Given the description of an element on the screen output the (x, y) to click on. 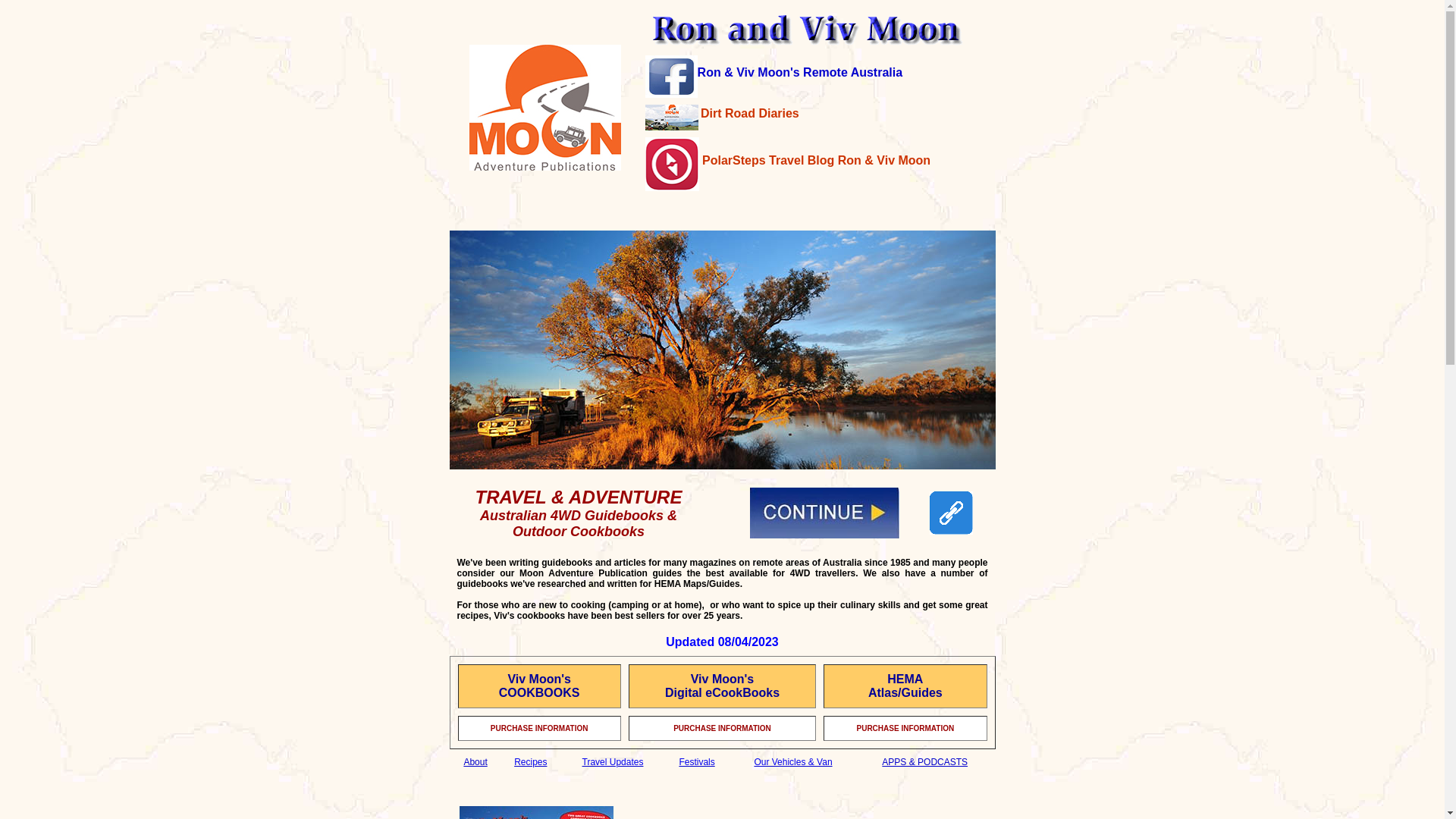
Viv Moon's
COOKBOOKS Element type: text (539, 685)
PURCHASE INFORMATION Element type: text (722, 728)
Recipes Element type: text (530, 761)
PURCHASE INFORMATION Element type: text (539, 728)
PolarSteps Travel Blog Ron & Viv Moon Element type: text (815, 159)
PURCHASE INFORMATION Element type: text (904, 728)
HEMA
Atlas/Guides Element type: text (905, 685)
Ron & Viv Moon's Remote Australia Element type: text (800, 71)
Dirt Road Diaries Element type: text (749, 112)
Our Vehicles & Van Element type: text (792, 761)
About Element type: text (474, 761)
Travel Updates Element type: text (612, 761)
Festivals Element type: text (696, 761)
APPS & PODCASTS Element type: text (924, 761)
Viv Moon's
Digital eCookBooks Element type: text (722, 685)
